Given the description of an element on the screen output the (x, y) to click on. 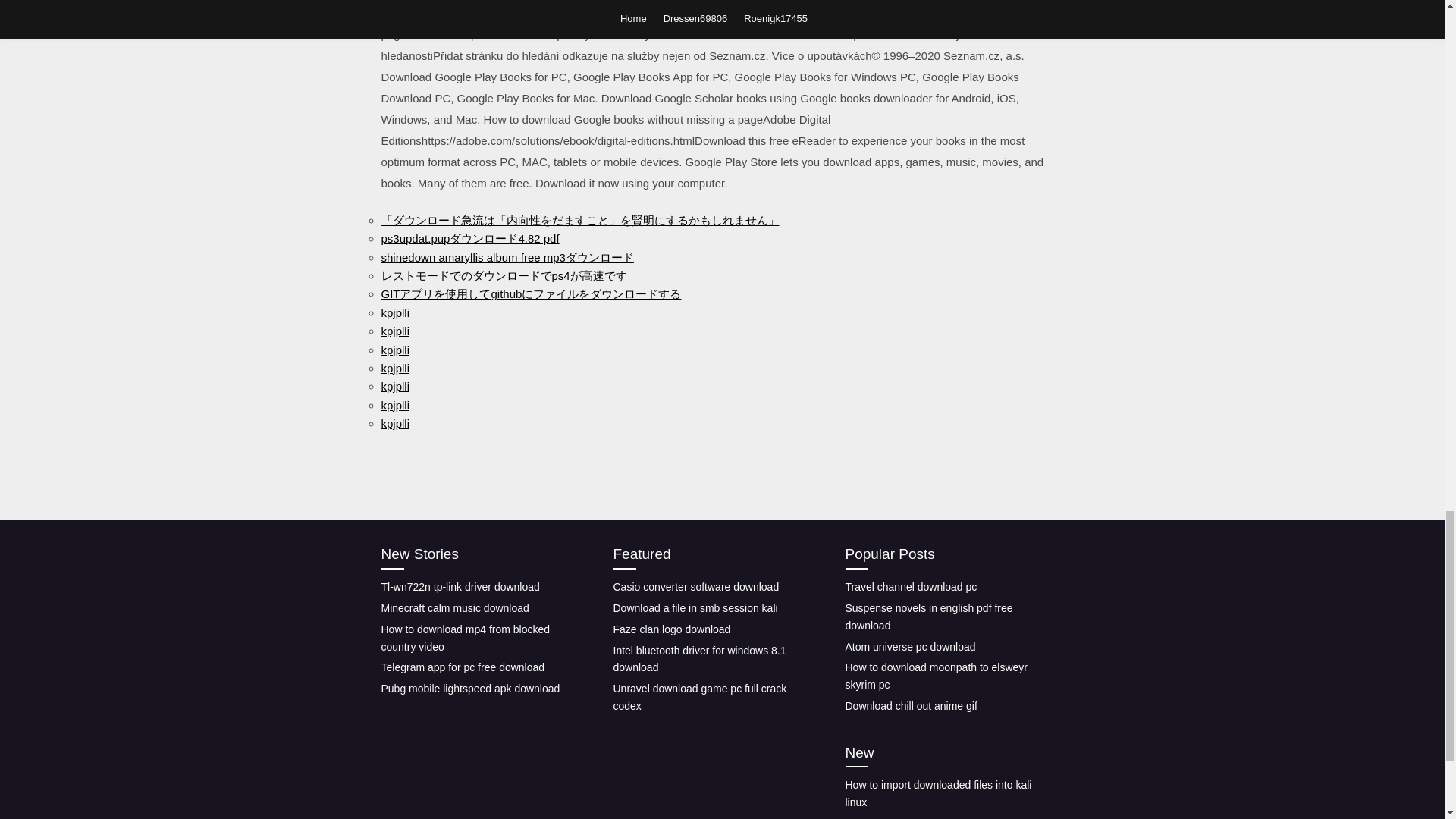
Faze clan logo download (671, 629)
Suspense novels in english pdf free download (927, 616)
kpjplli (394, 404)
Telegram app for pc free download (462, 666)
Pubg mobile lightspeed apk download (469, 688)
kpjplli (394, 330)
Download a file in smb session kali (694, 607)
kpjplli (394, 367)
Download mp4 youtub eredit (911, 818)
kpjplli (394, 386)
How to download moonpath to elsweyr skyrim pc (935, 675)
Atom universe pc download (909, 645)
Travel channel download pc (910, 586)
How to import downloaded files into kali linux (937, 793)
kpjplli (394, 422)
